Given the description of an element on the screen output the (x, y) to click on. 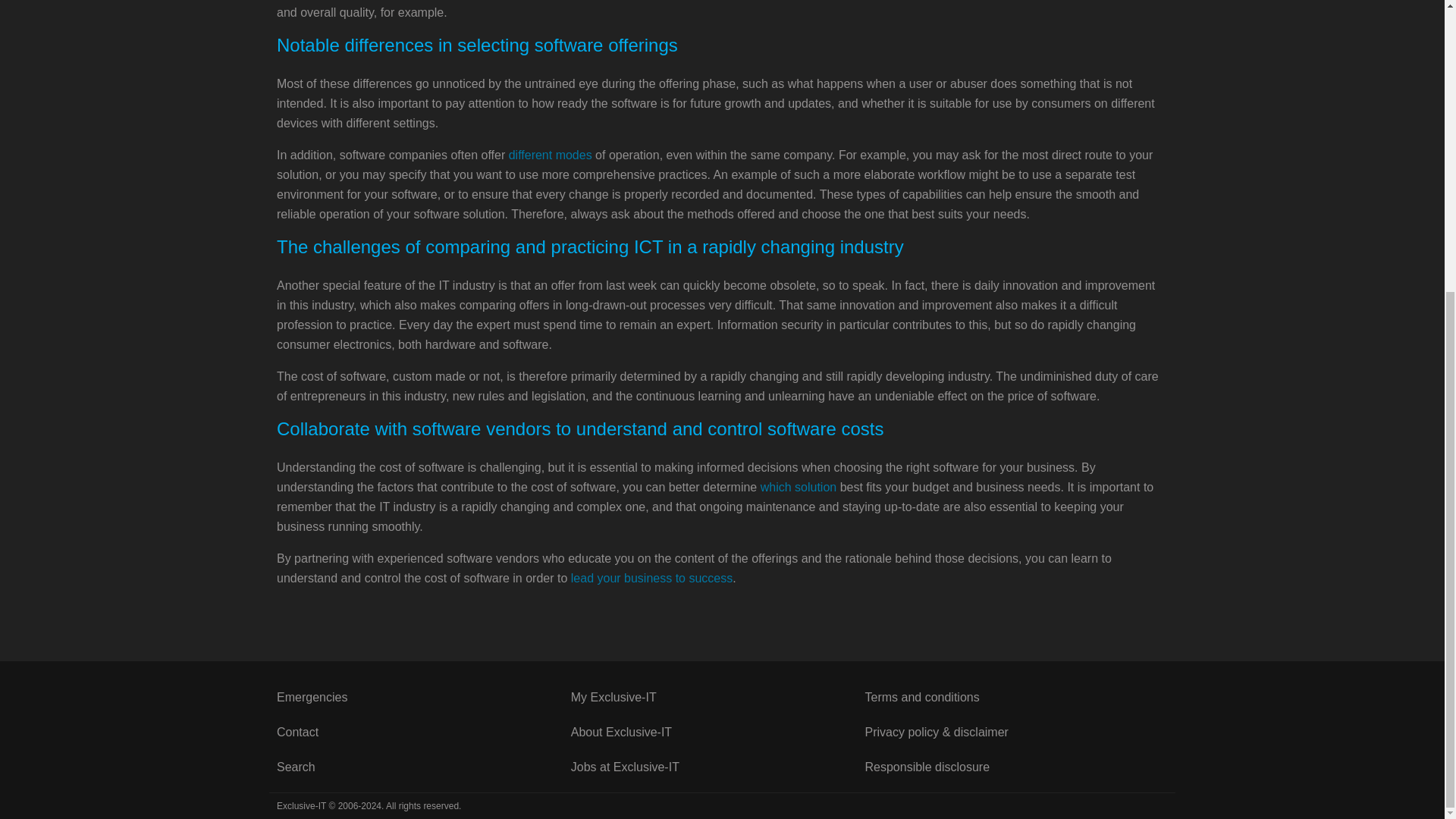
Terms and conditions (1011, 697)
My Exclusive-IT (717, 697)
Search (423, 767)
Contact (423, 732)
Jobs at Exclusive-IT (717, 767)
About Exclusive-IT (717, 732)
different modes (550, 154)
Emergencies (423, 697)
which solution (798, 486)
lead your business to success (651, 577)
